Given the description of an element on the screen output the (x, y) to click on. 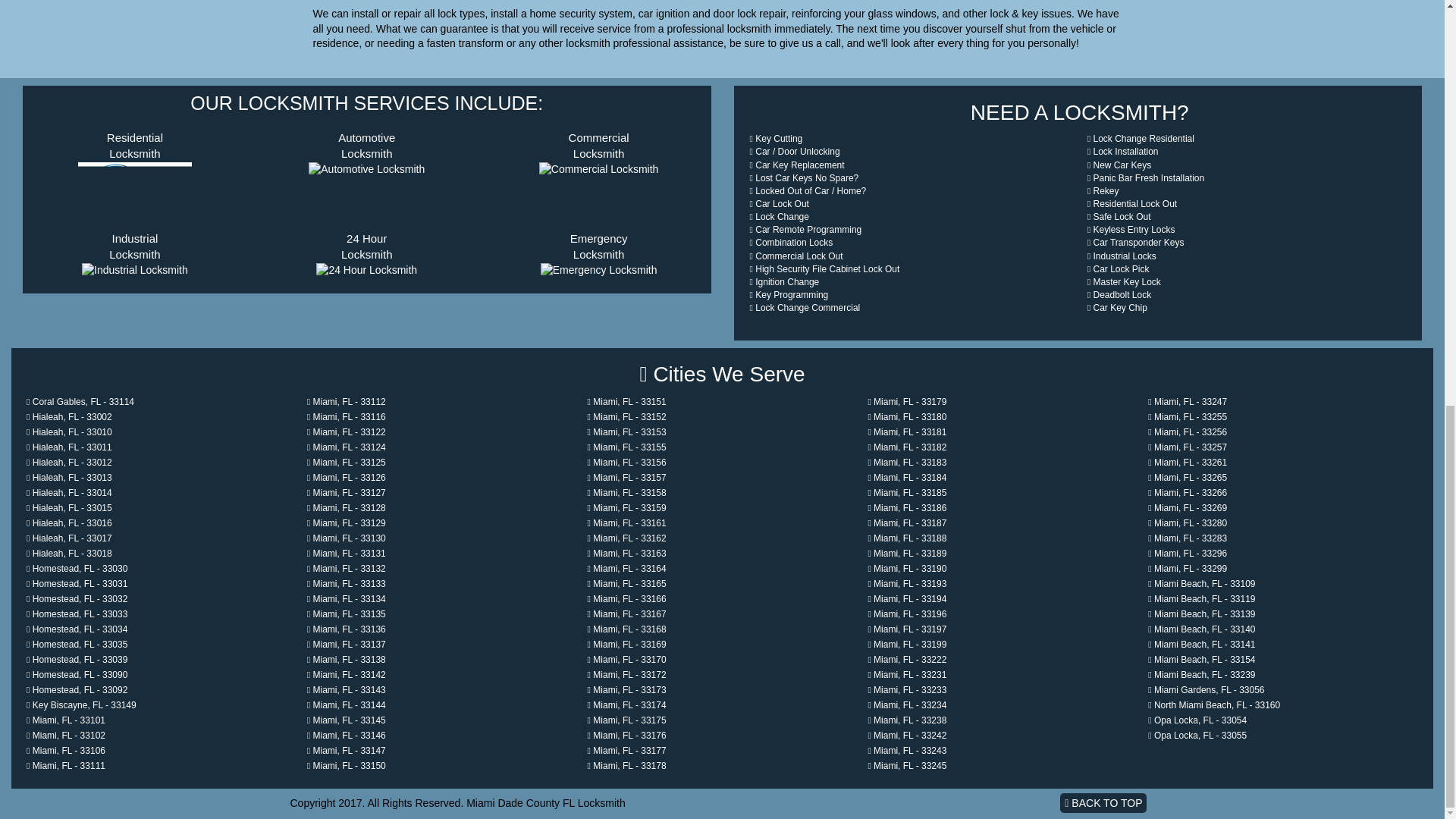
Lost Car Keys No Spare? (804, 177)
Combination Locks (135, 179)
Commercial Lock Out (790, 242)
Lock Change Residential (796, 255)
Industrial Locksmith (1140, 138)
Key Cutting (366, 254)
Lock Change Commercial (134, 270)
